Given the description of an element on the screen output the (x, y) to click on. 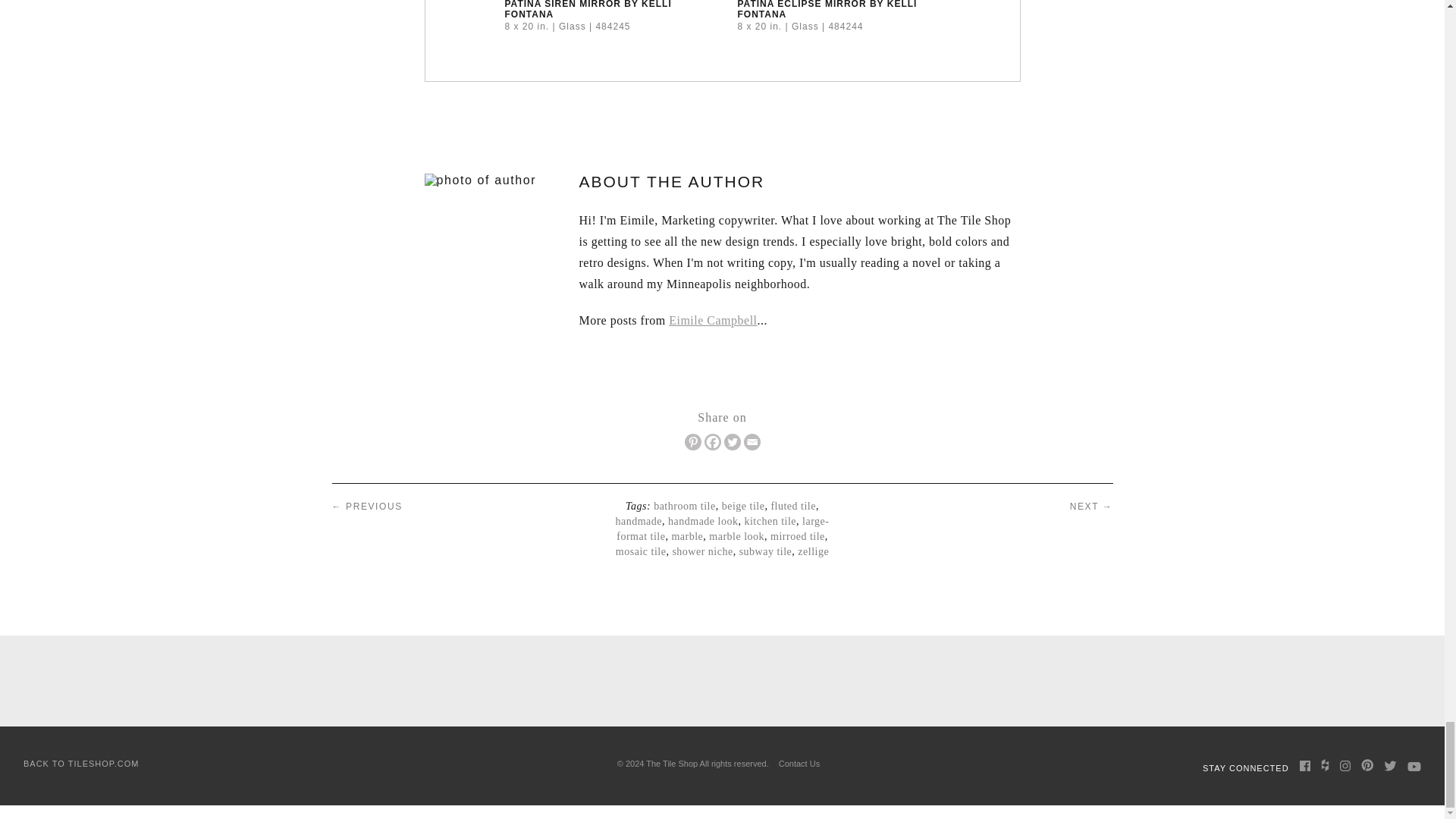
youtube (1414, 766)
Twitter (731, 442)
Email (751, 442)
Pinterest (692, 442)
Posts by Eimile Campbell (712, 319)
twitter (1390, 765)
pinterest (1367, 765)
instagram (1345, 765)
facebook (1305, 765)
Facebook (711, 442)
